Given the description of an element on the screen output the (x, y) to click on. 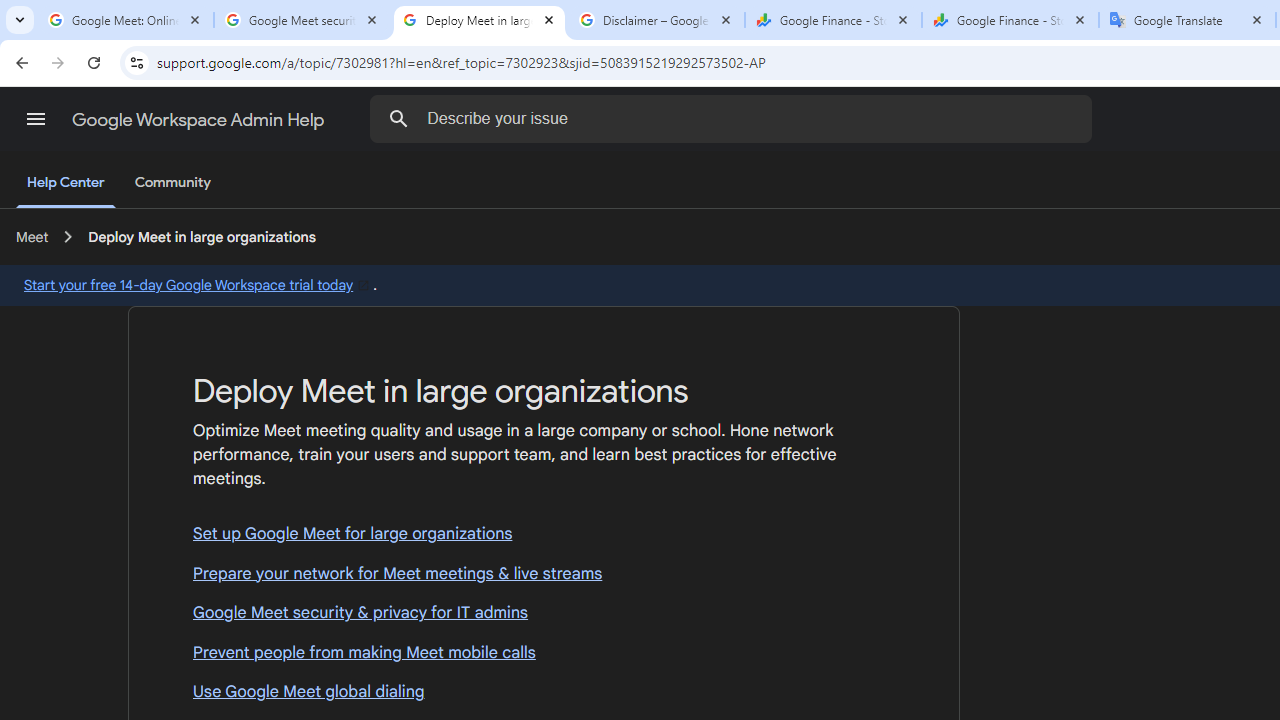
Help Center (65, 183)
Search Help Center (399, 118)
Start your free 14-day Google Workspace trial today (198, 284)
Google Meet security & privacy for IT admins (543, 613)
Prevent people from making Meet mobile calls (543, 653)
Describe your issue (735, 118)
Community (171, 183)
